Given the description of an element on the screen output the (x, y) to click on. 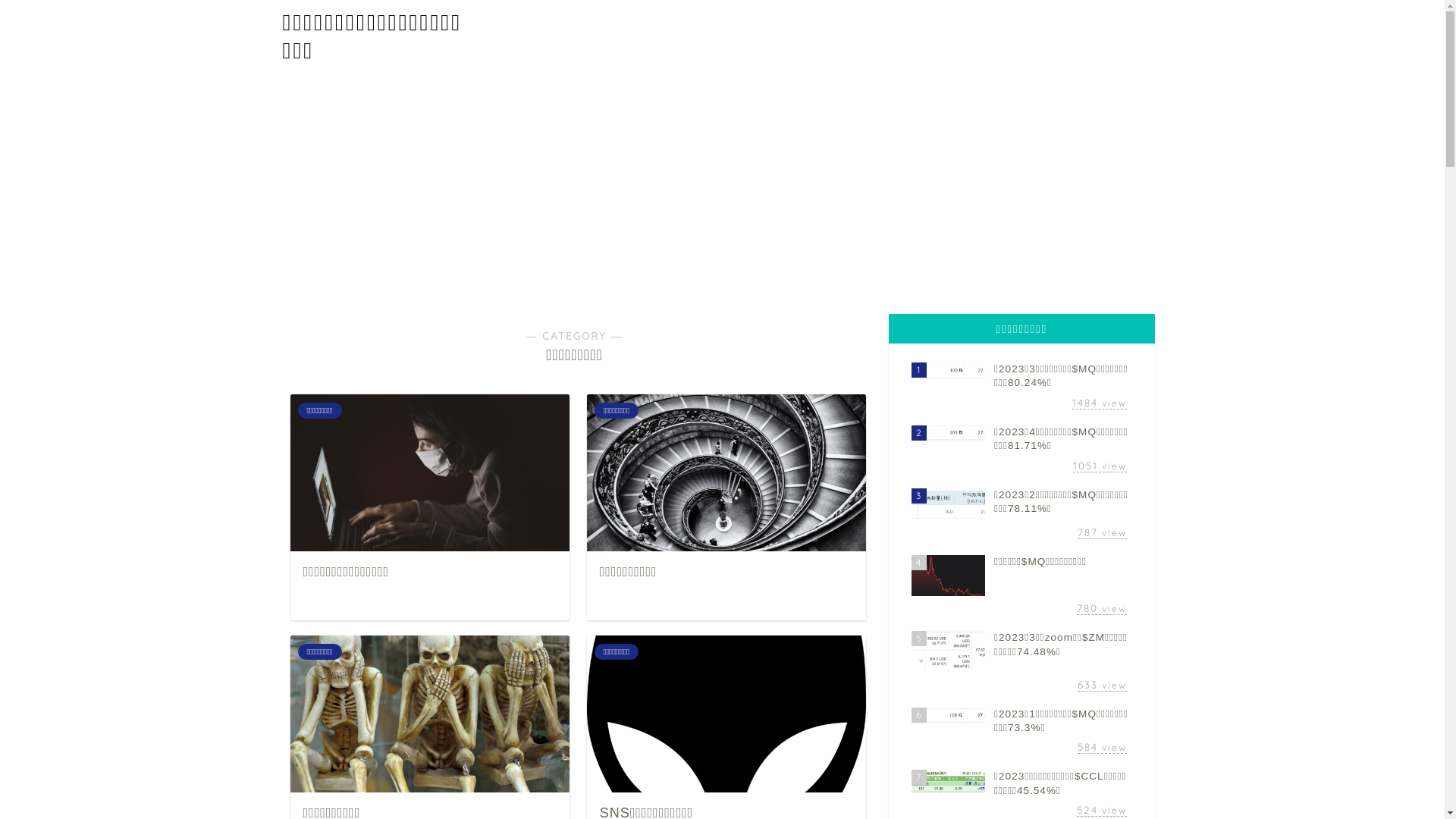
Advertisement Element type: hover (721, 184)
